Given the description of an element on the screen output the (x, y) to click on. 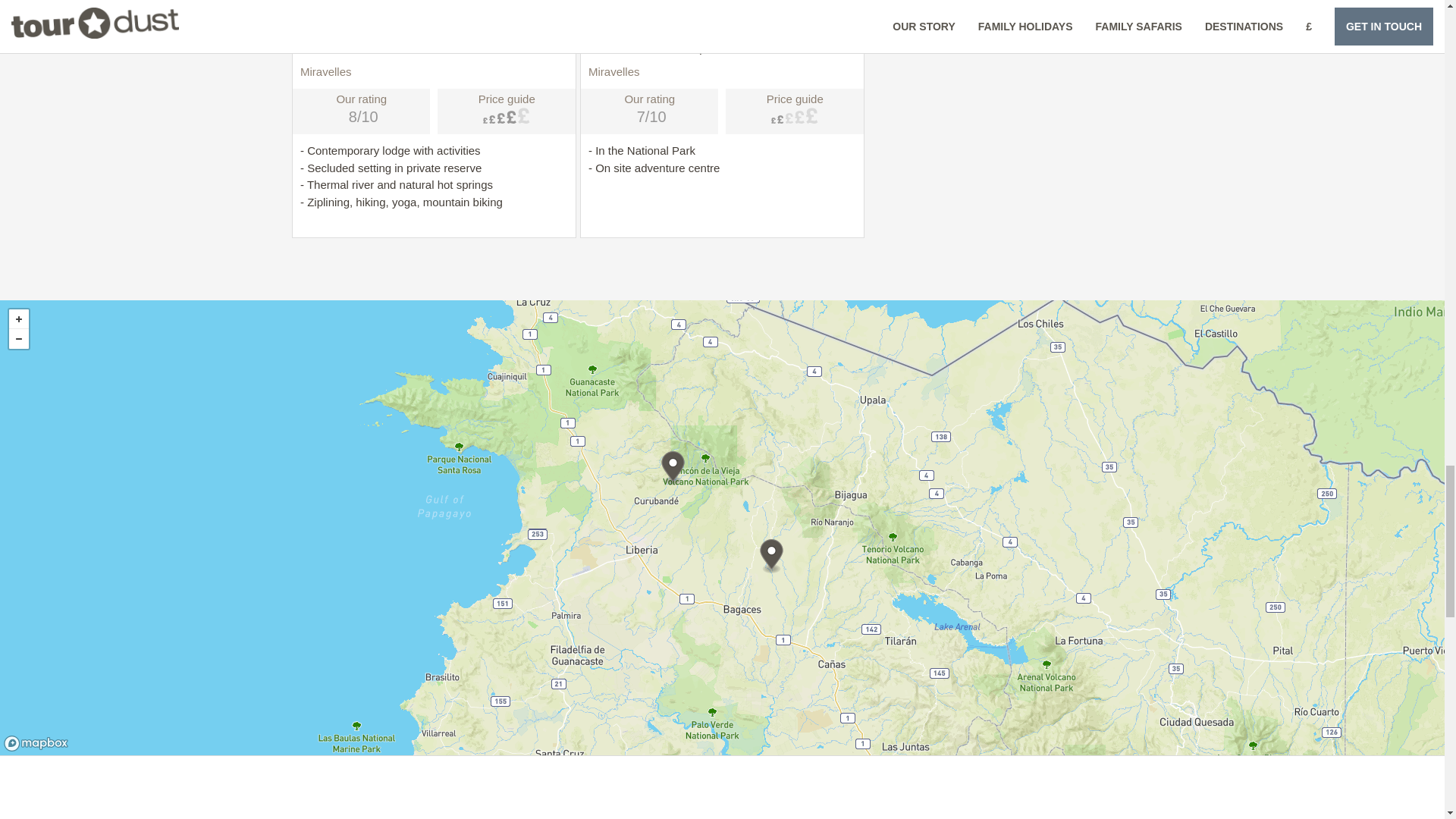
Zoom out (18, 338)
Zoom in (18, 319)
